Given the description of an element on the screen output the (x, y) to click on. 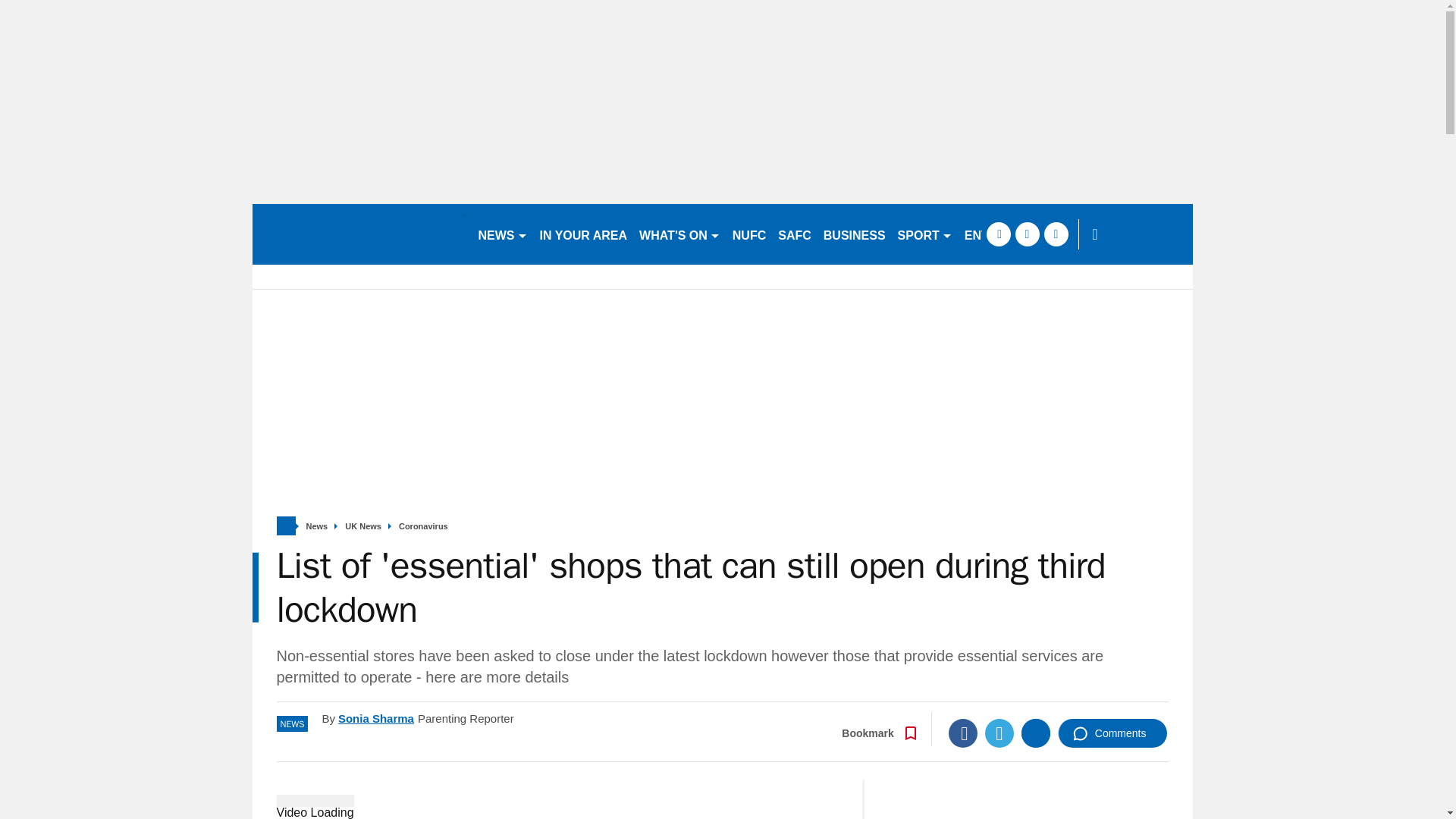
Comments (1112, 733)
nechronicle (357, 233)
instagram (1055, 233)
BUSINESS (853, 233)
twitter (1026, 233)
Facebook (962, 733)
NEWS (501, 233)
SPORT (924, 233)
WHAT'S ON (679, 233)
Twitter (999, 733)
